Given the description of an element on the screen output the (x, y) to click on. 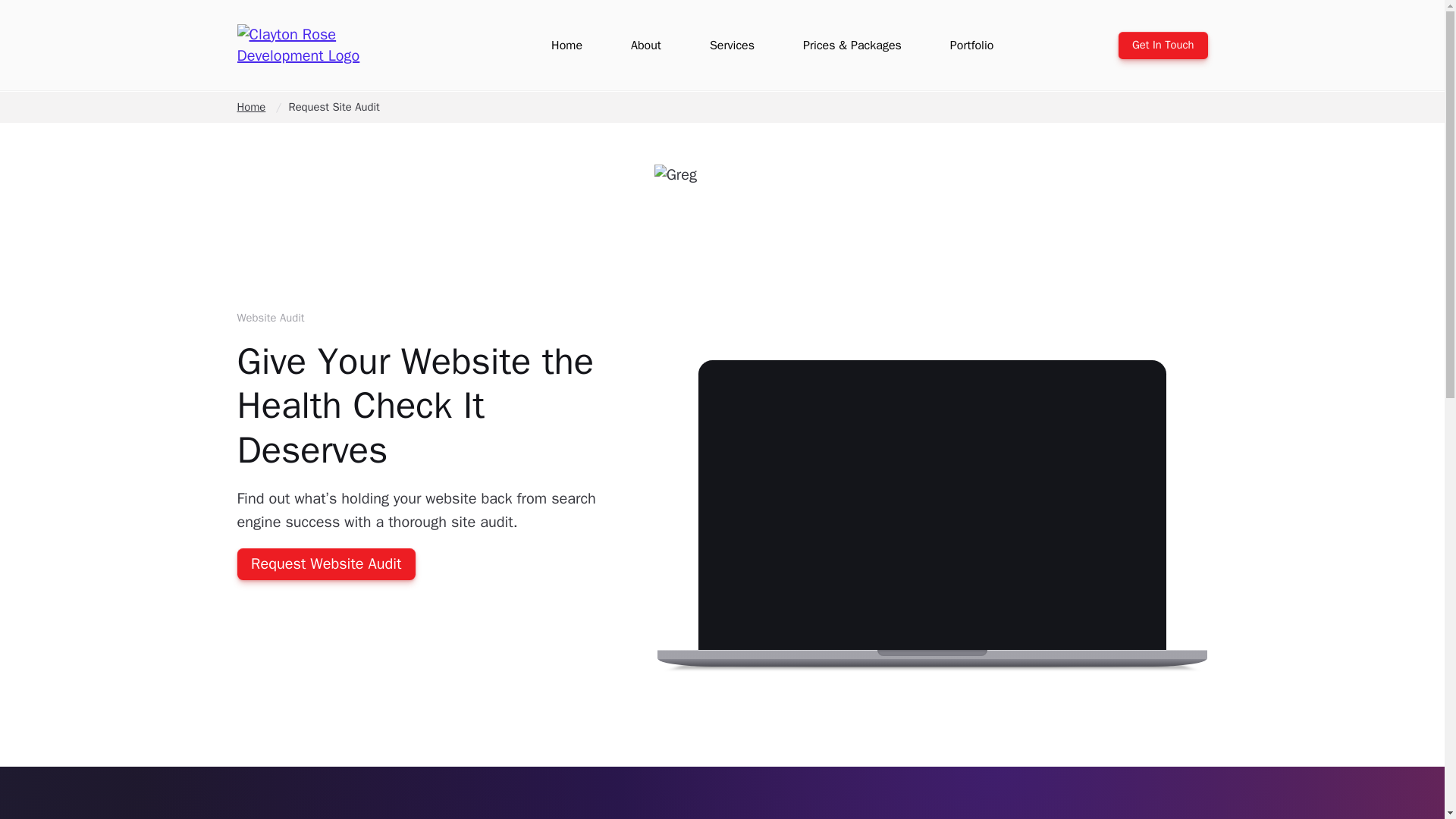
Home (566, 45)
Request Website Audit (324, 563)
Services (732, 45)
Portfolio (971, 45)
Get In Touch (1163, 44)
Home (249, 106)
About (645, 45)
Portfolio (972, 45)
Get In Touch (1162, 45)
Services (731, 45)
